Given the description of an element on the screen output the (x, y) to click on. 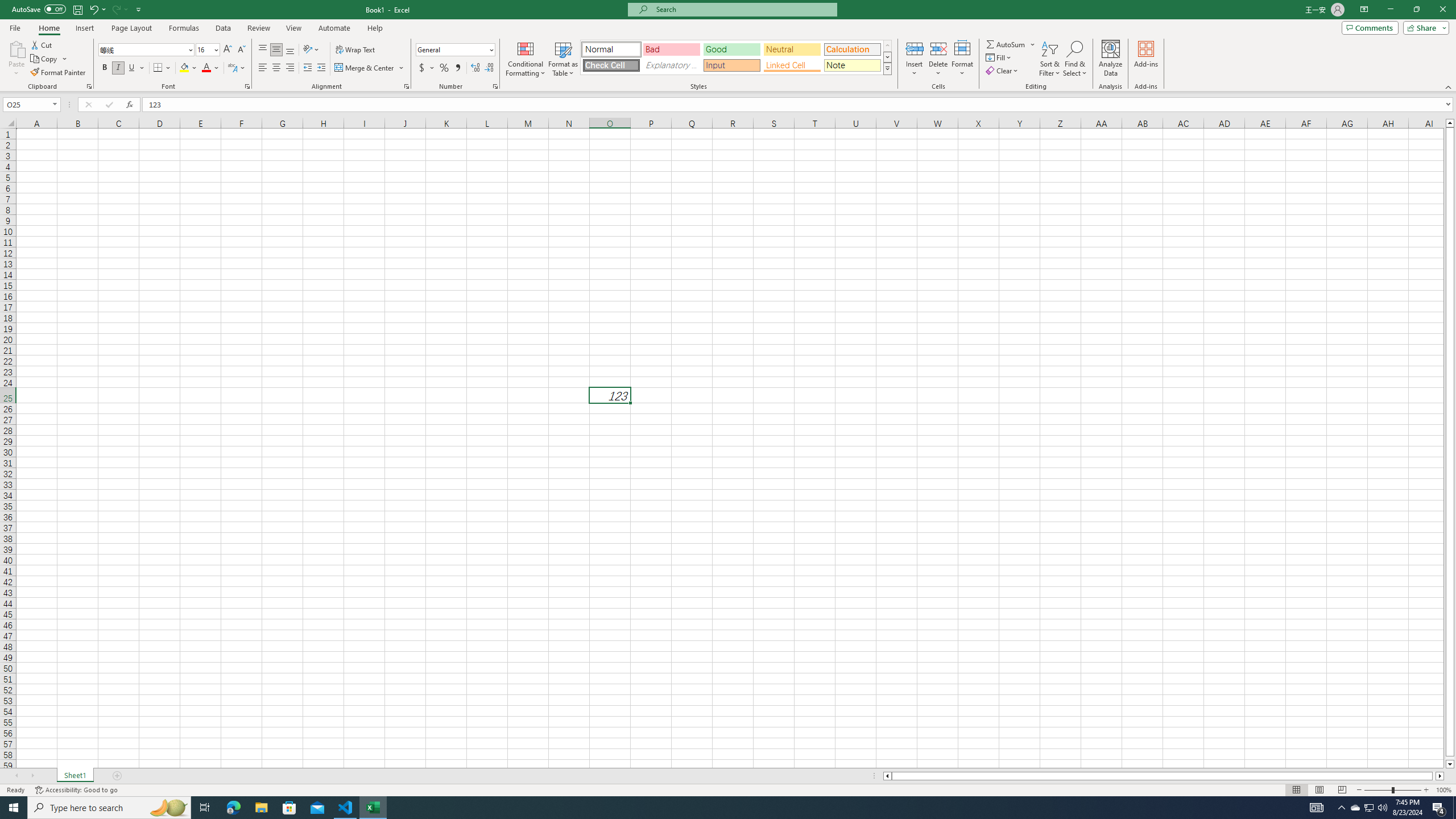
Office Clipboard... (88, 85)
Sum (1006, 44)
AutoSum (1011, 44)
Accounting Number Format (426, 67)
Bottom Align (290, 49)
Font (147, 49)
Merge & Center (365, 67)
Center (276, 67)
Bottom Border (157, 67)
